Given the description of an element on the screen output the (x, y) to click on. 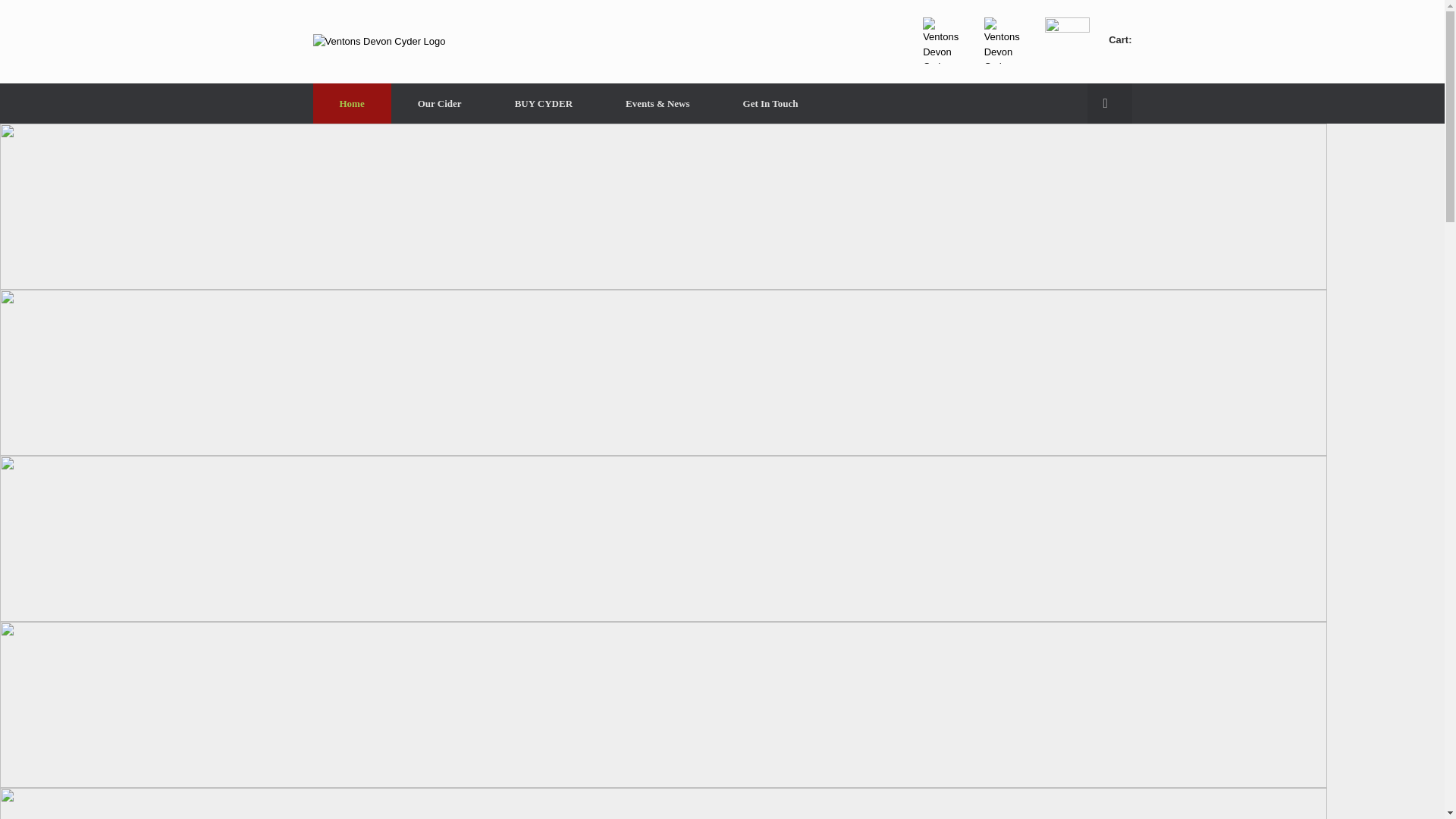
Ventons Devon Cyder (379, 41)
Get In Touch (770, 103)
BUY CYDER (542, 103)
Home (351, 103)
Our Cider (439, 103)
